Given the description of an element on the screen output the (x, y) to click on. 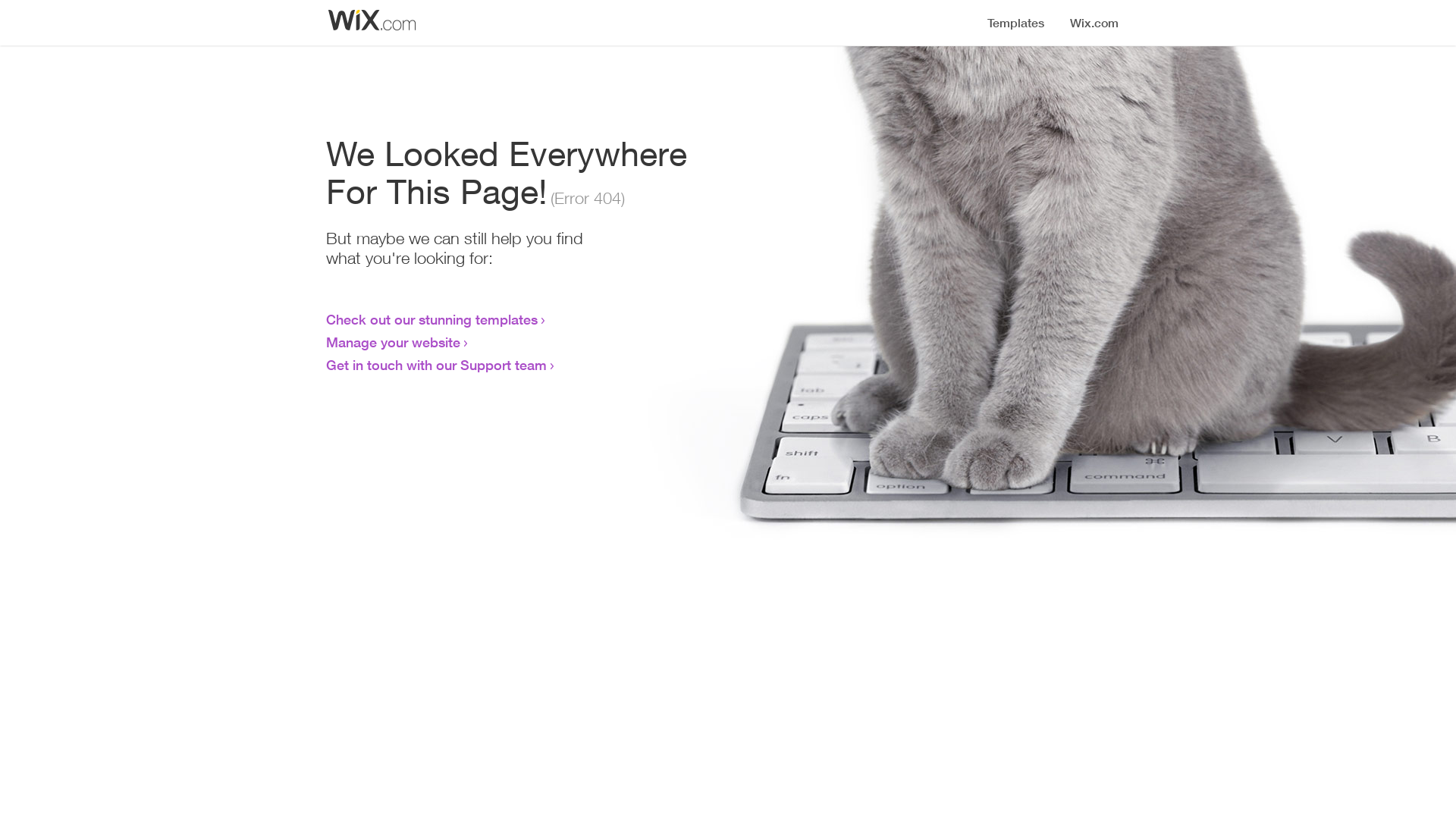
Manage your website Element type: text (393, 341)
Get in touch with our Support team Element type: text (436, 364)
Check out our stunning templates Element type: text (431, 318)
